Given the description of an element on the screen output the (x, y) to click on. 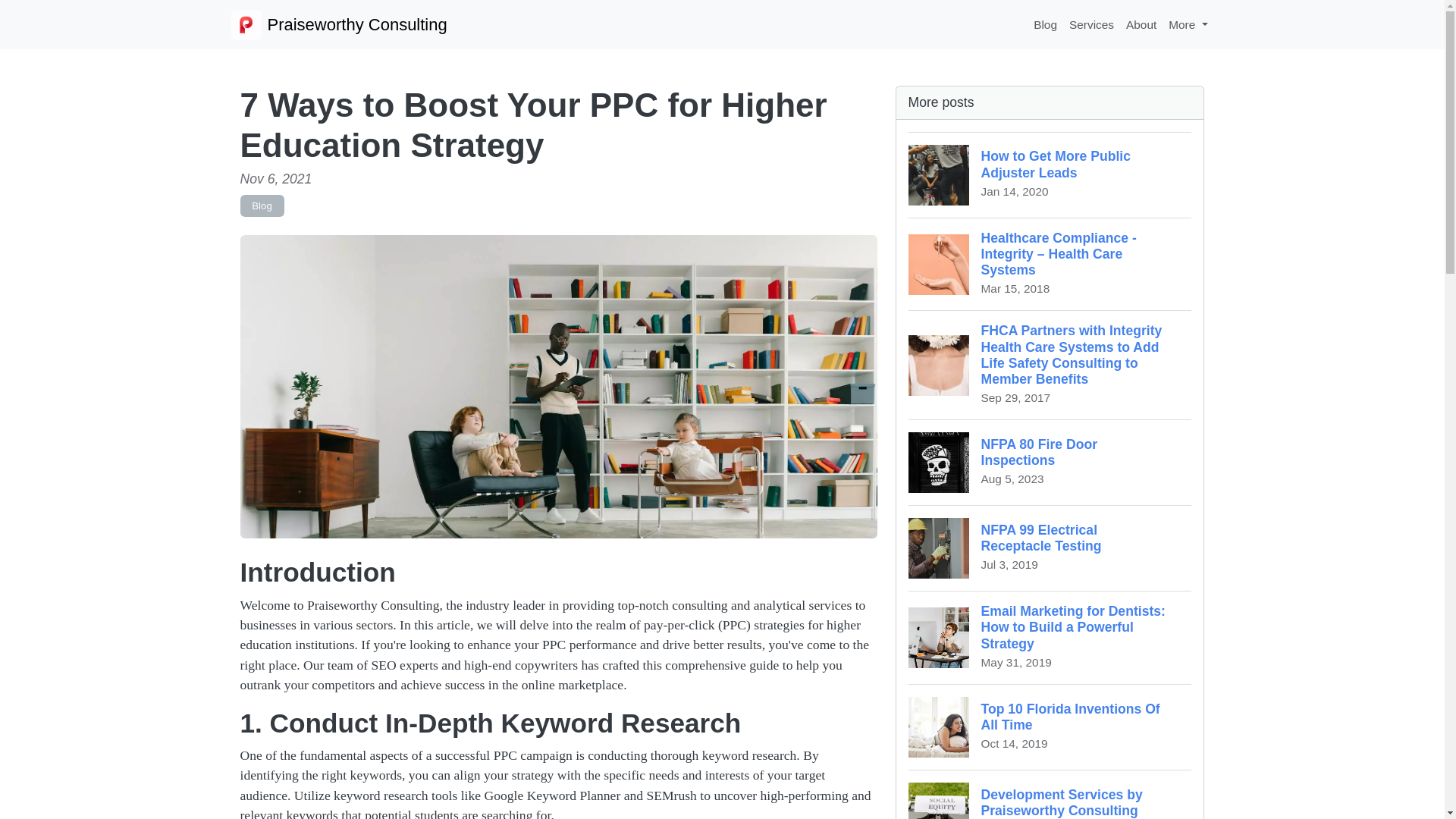
More (1050, 794)
Praiseworthy Consulting (1186, 24)
Blog (1050, 726)
About (338, 24)
Services (1044, 24)
Blog (1140, 24)
